Given the description of an element on the screen output the (x, y) to click on. 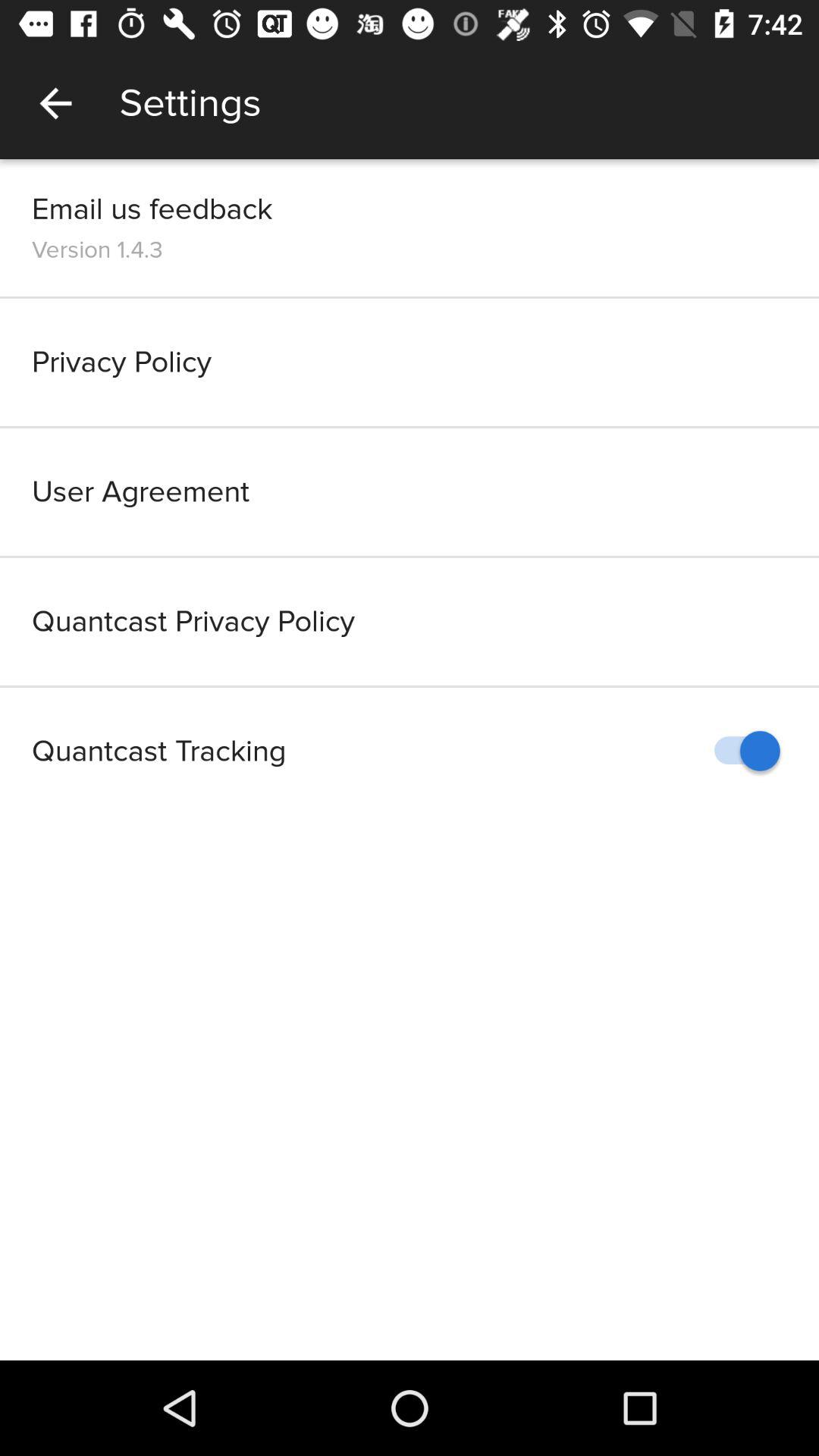
tap item to the left of settings item (55, 103)
